Given the description of an element on the screen output the (x, y) to click on. 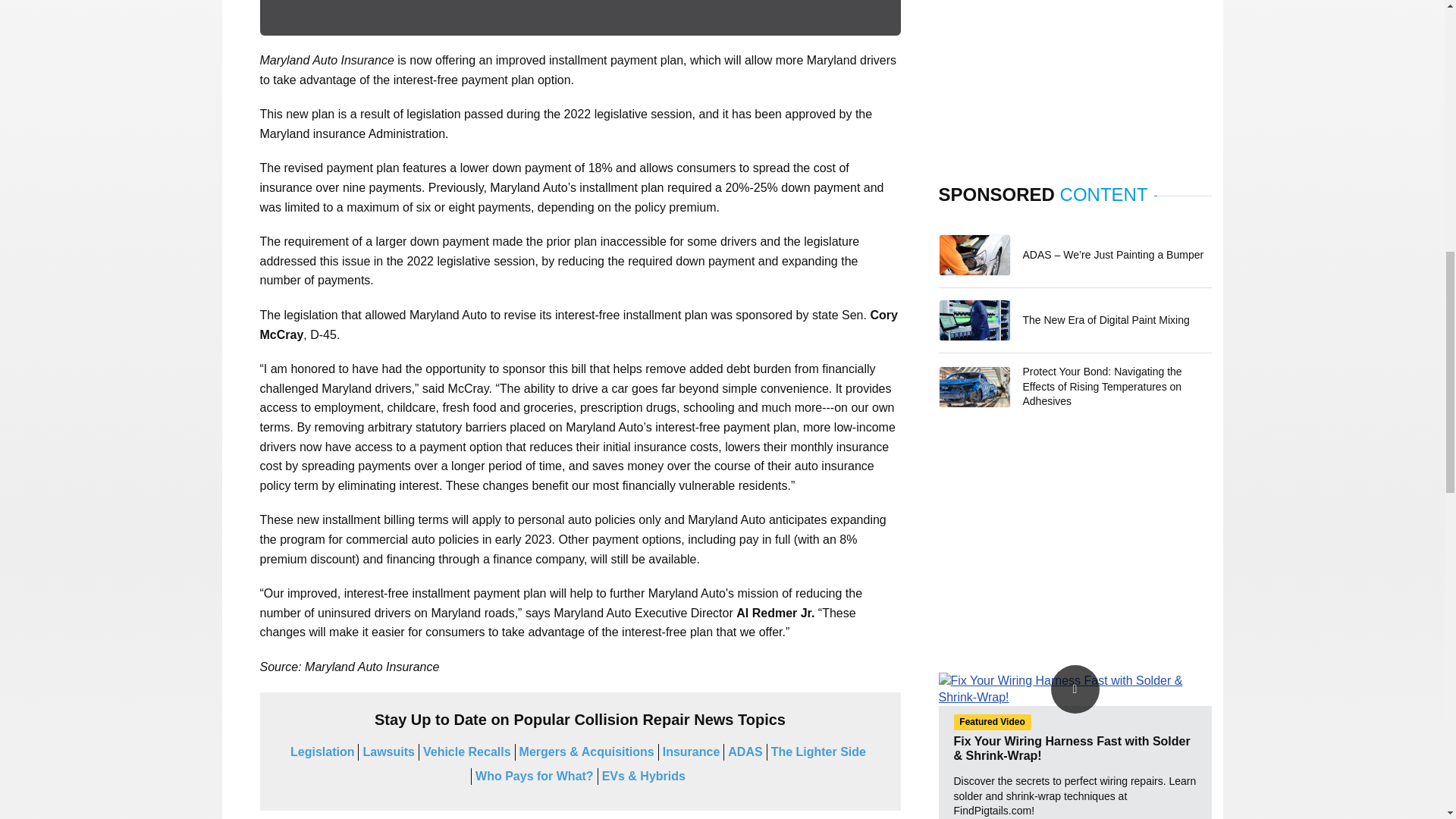
Lawsuits (387, 751)
Watch Now (1075, 689)
Who Pays for What? (535, 775)
The Lighter Side (818, 751)
ADAS (744, 751)
Insurance (691, 751)
Vehicle Recalls (467, 751)
3rd party ad content (1074, 538)
3rd party ad content (1074, 71)
Legislation (321, 751)
